Given the description of an element on the screen output the (x, y) to click on. 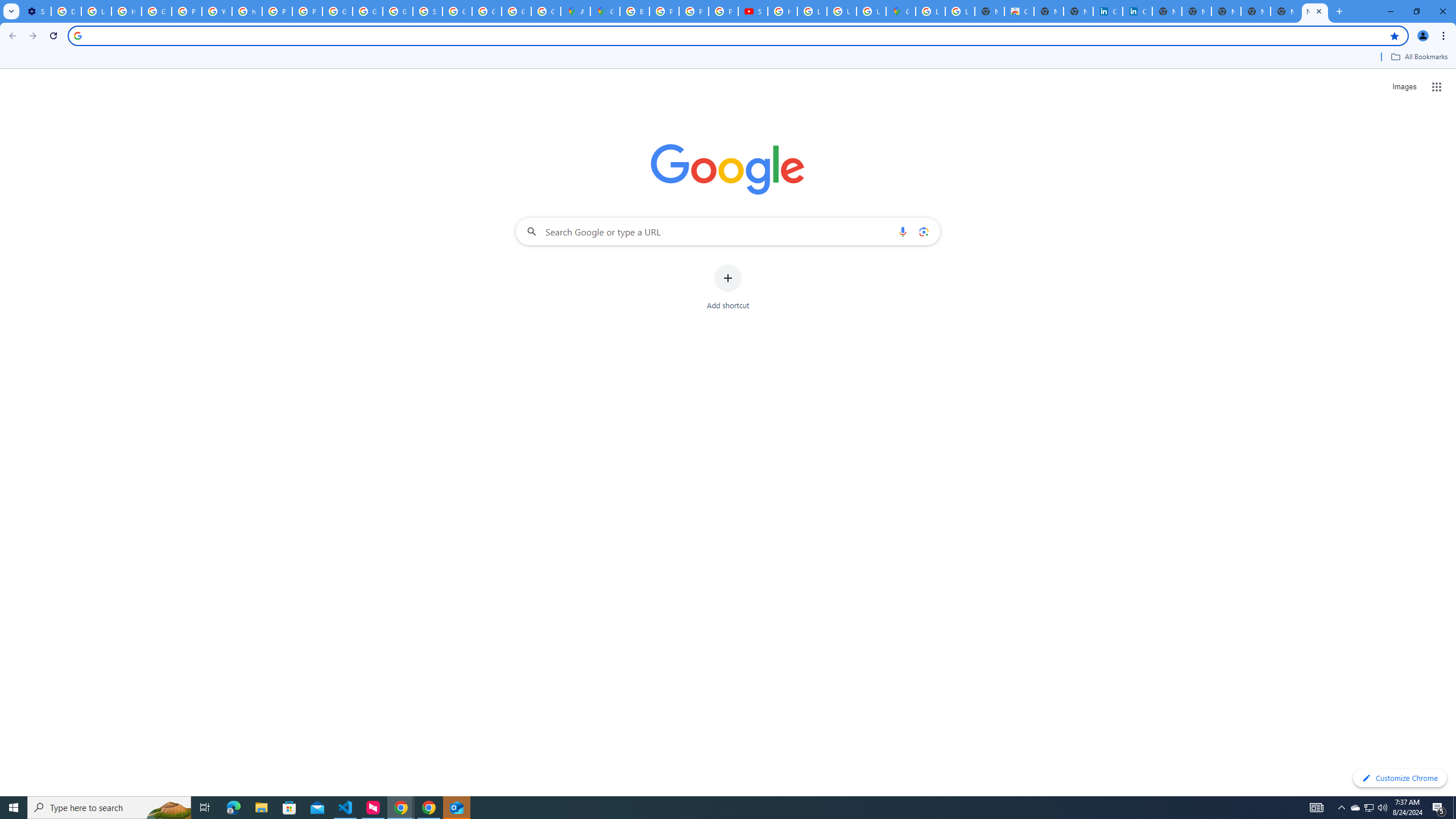
Learn how to find your photos - Google Photos Help (95, 11)
Sign in - Google Accounts (426, 11)
Google Maps (900, 11)
Privacy Help Center - Policies Help (185, 11)
https://scholar.google.com/ (247, 11)
New Tab (1314, 11)
